Given the description of an element on the screen output the (x, y) to click on. 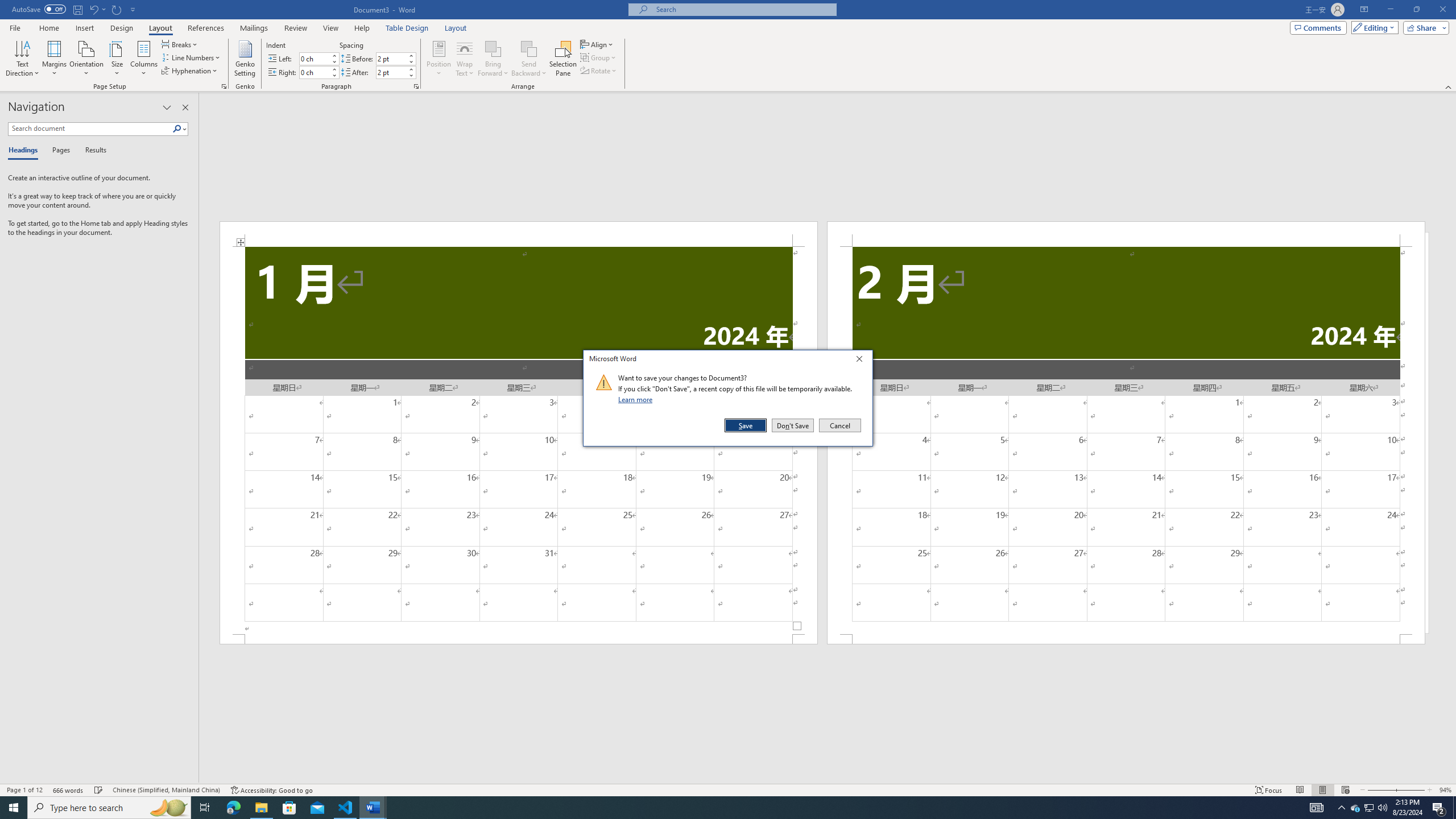
Hyphenation (189, 69)
Class: MsoCommandBar (728, 789)
Bring Forward (492, 48)
Accessibility Checker Accessibility: Good to go (271, 790)
View (330, 28)
Task Pane Options (167, 107)
More (411, 69)
Orientation (86, 58)
Quick Access Toolbar (74, 9)
Class: NetUIScrollBar (827, 778)
Undo Increase Indent (92, 9)
